Given the description of an element on the screen output the (x, y) to click on. 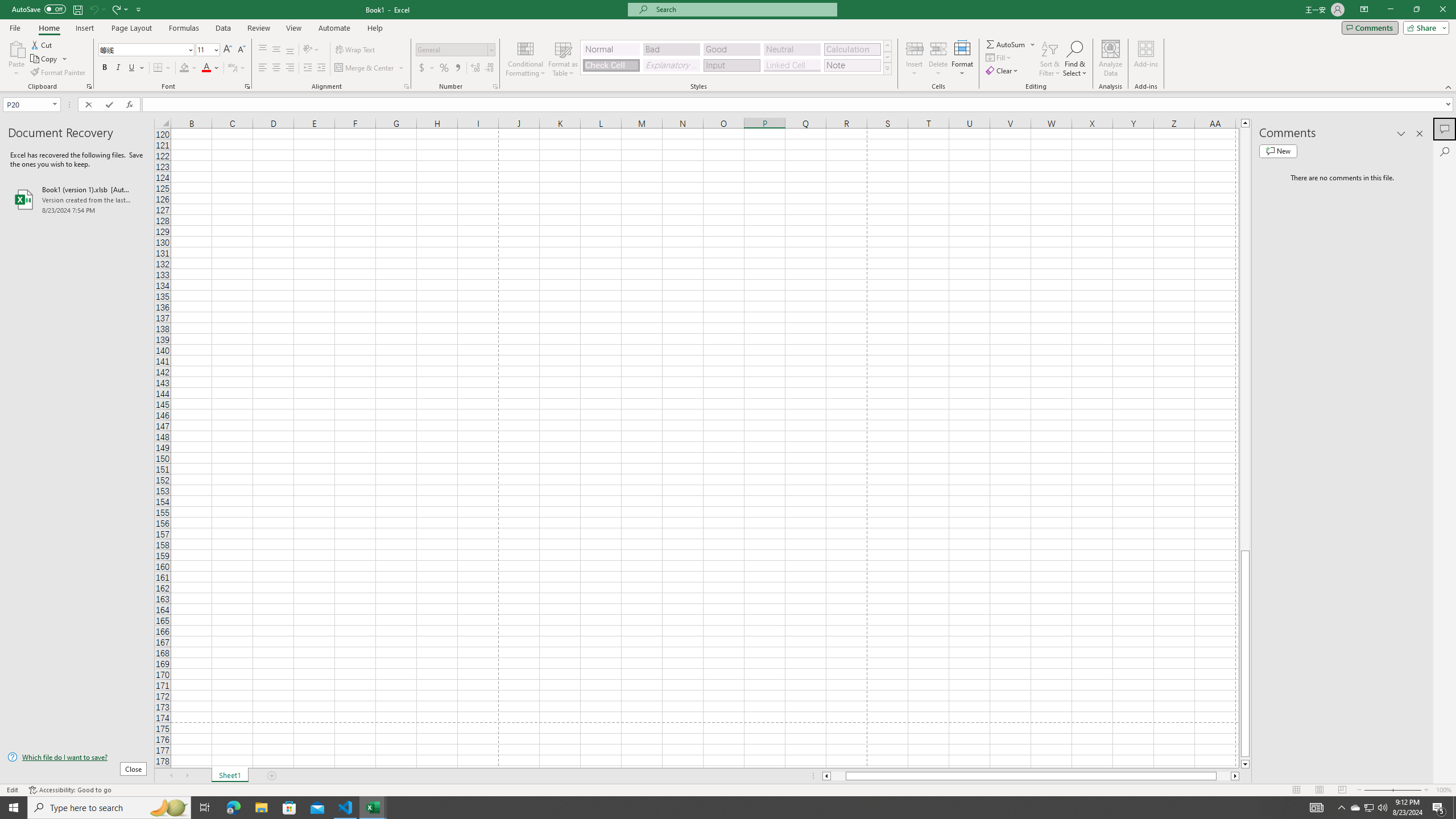
Sort & Filter (1049, 58)
Increase Decimal (474, 67)
Increase Indent (320, 67)
Underline (131, 67)
Decrease Indent (307, 67)
Neutral (791, 49)
